Given the description of an element on the screen output the (x, y) to click on. 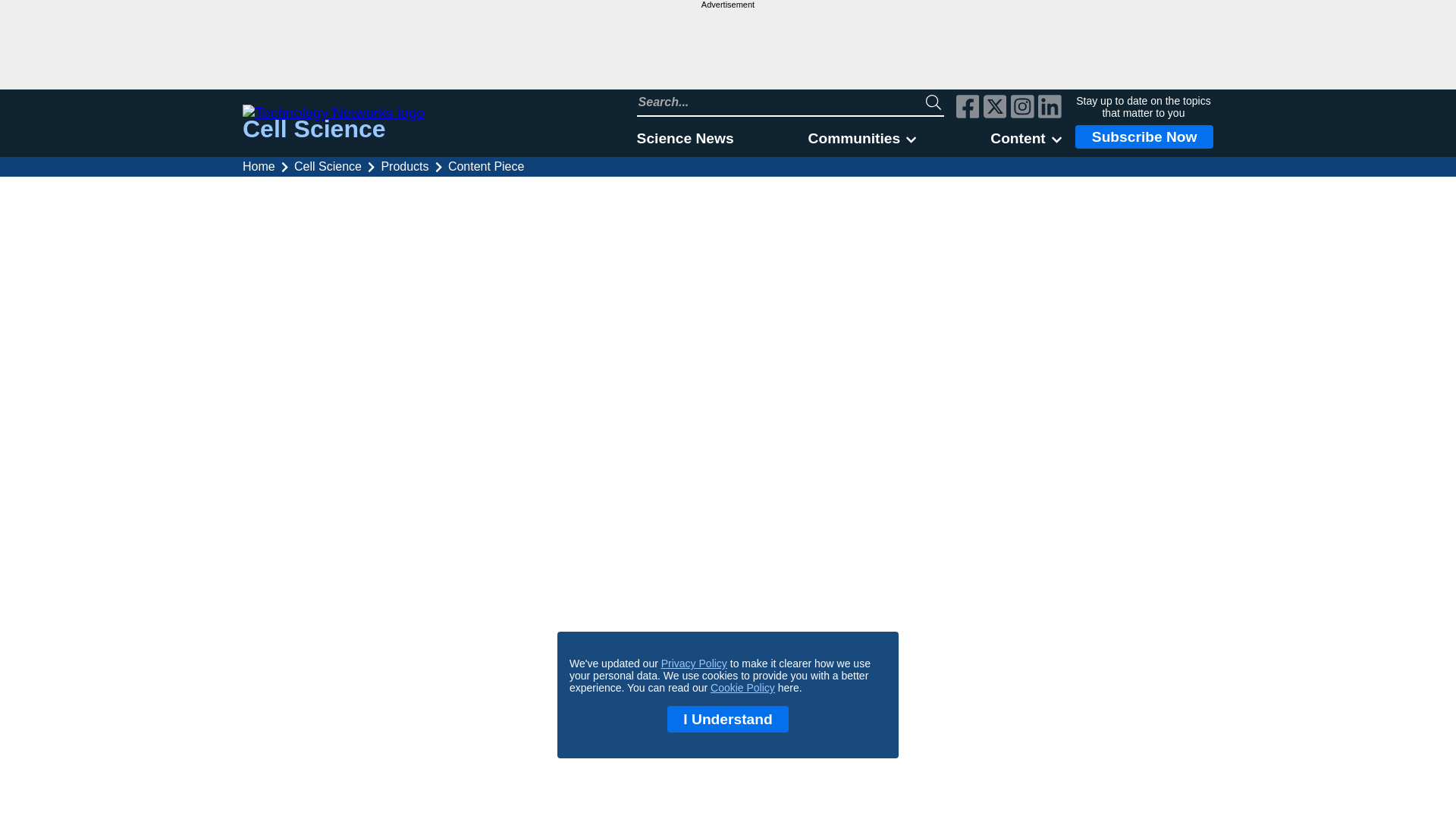
Privacy Policy (693, 663)
Technology Networks logo (334, 112)
Link to Technology Networks' instagram page (1021, 108)
Link to Technology Networks' facebook page (967, 108)
Link to Technology Networks' linkedin page (1049, 108)
Link to Technology Networks' twitter page (995, 108)
Search Technology Networks website input field (781, 102)
Cookie Policy (742, 687)
I Understand (727, 718)
